Given the description of an element on the screen output the (x, y) to click on. 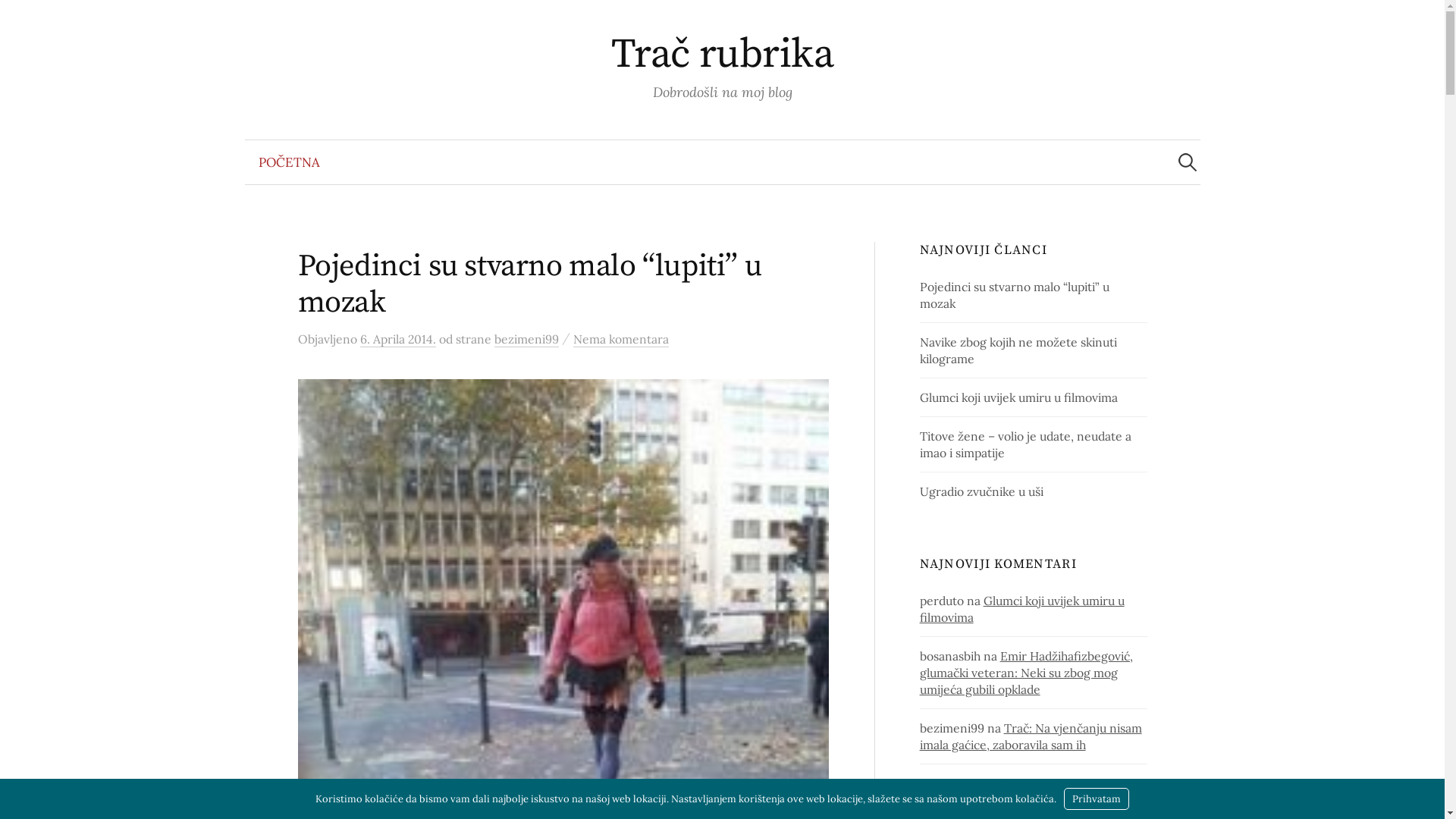
Glumci koji uvijek umiru u filmovima Element type: text (1018, 396)
Prihvatam Element type: text (1096, 798)
6. Aprila 2014. Element type: text (397, 339)
Pretraga Element type: text (18, 18)
Glumci koji uvijek umiru u filmovima Element type: text (1021, 608)
bezimeni99 Element type: text (526, 339)
